Given the description of an element on the screen output the (x, y) to click on. 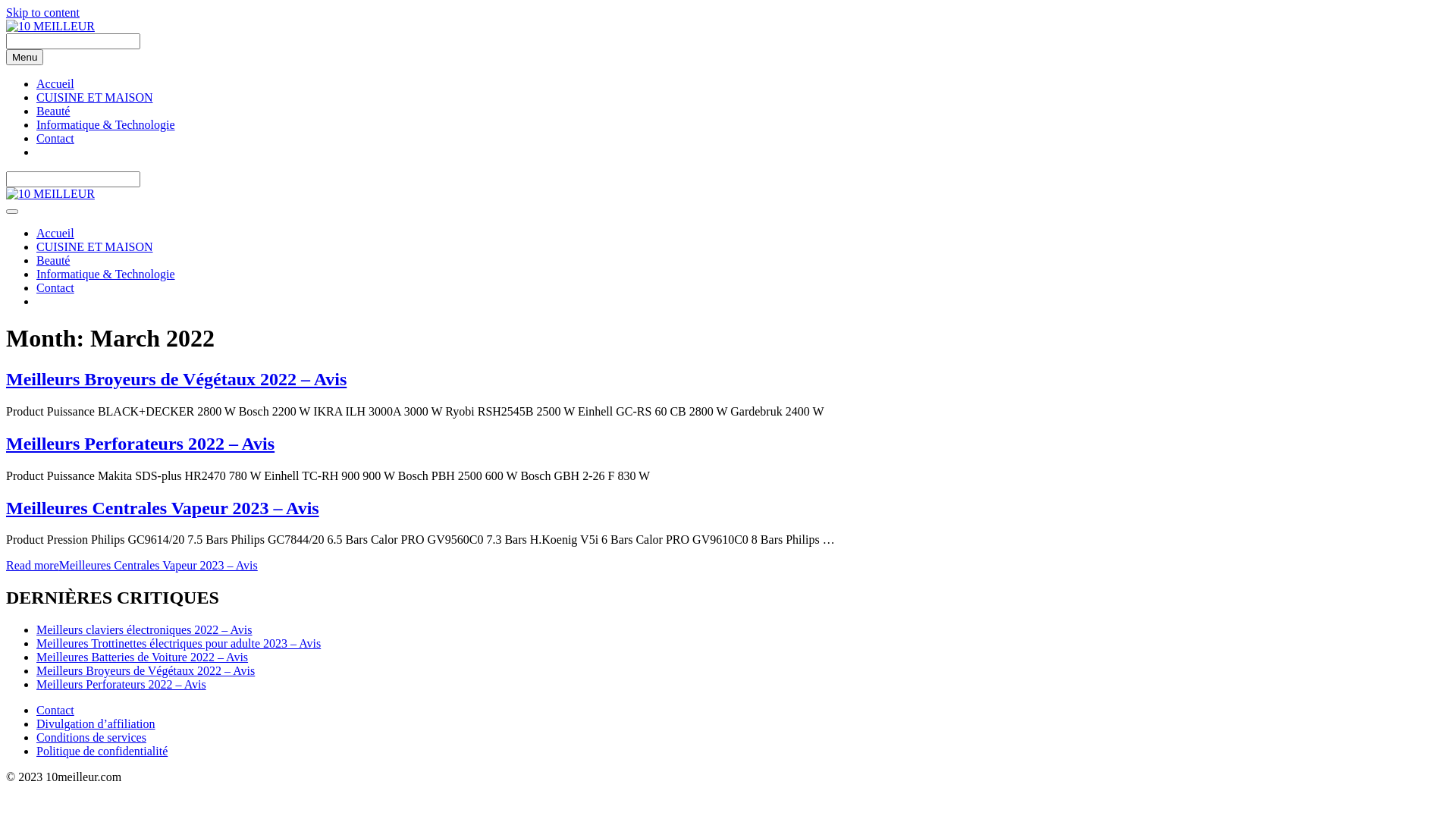
Conditions de services Element type: text (91, 737)
Informatique & Technologie Element type: text (105, 124)
Contact Element type: text (55, 287)
Search Element type: hover (73, 179)
CUISINE ET MAISON Element type: text (94, 97)
Search Element type: hover (73, 41)
CUISINE ET MAISON Element type: text (94, 246)
Contact Element type: text (55, 709)
Skip to content Element type: text (42, 12)
Menu Element type: text (24, 57)
Accueil Element type: text (55, 232)
Informatique & Technologie Element type: text (105, 273)
Contact Element type: text (55, 137)
10 MEILLEUR Element type: hover (50, 193)
Accueil Element type: text (55, 83)
